Given the description of an element on the screen output the (x, y) to click on. 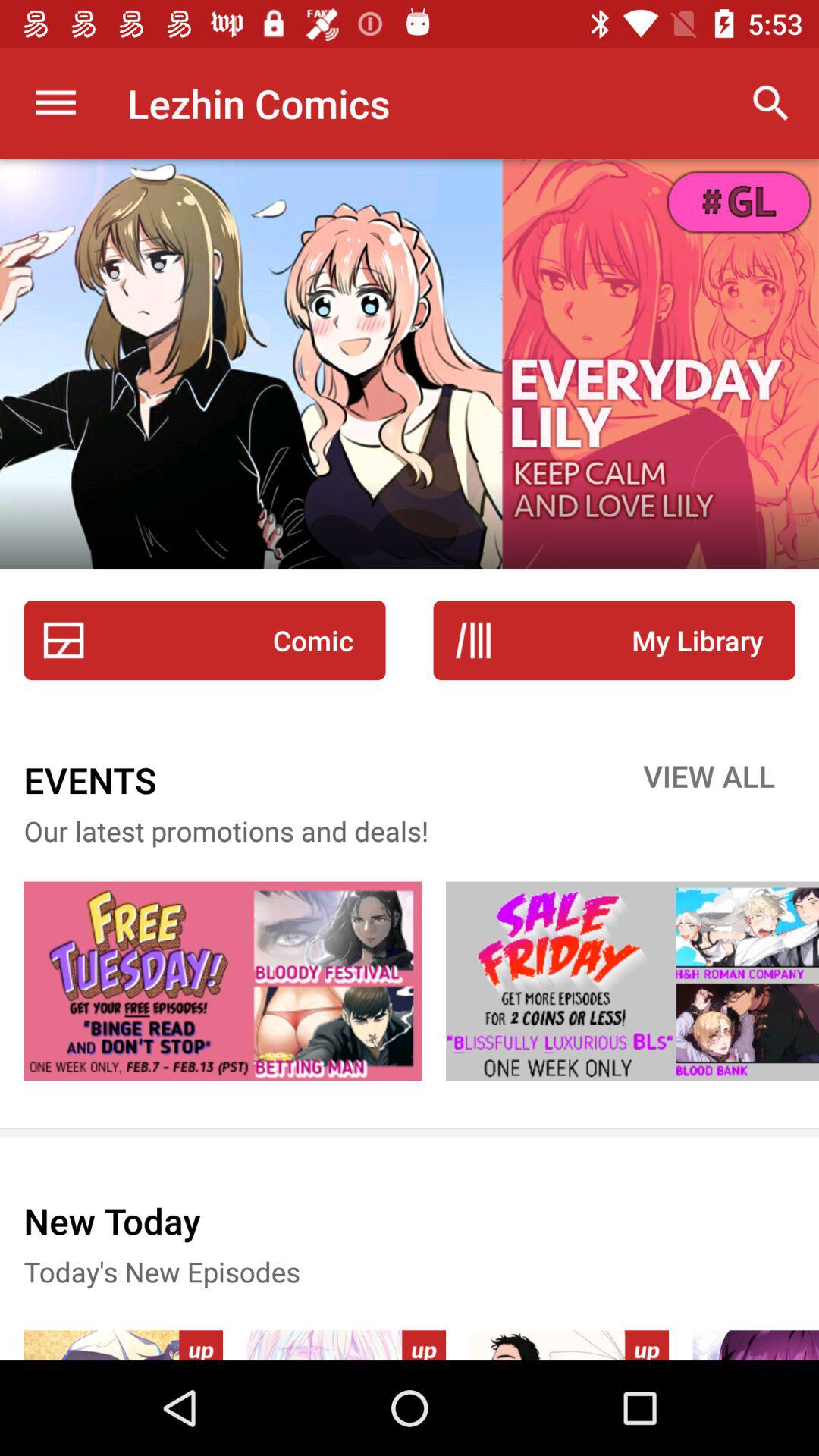
launch item next to events (709, 779)
